Given the description of an element on the screen output the (x, y) to click on. 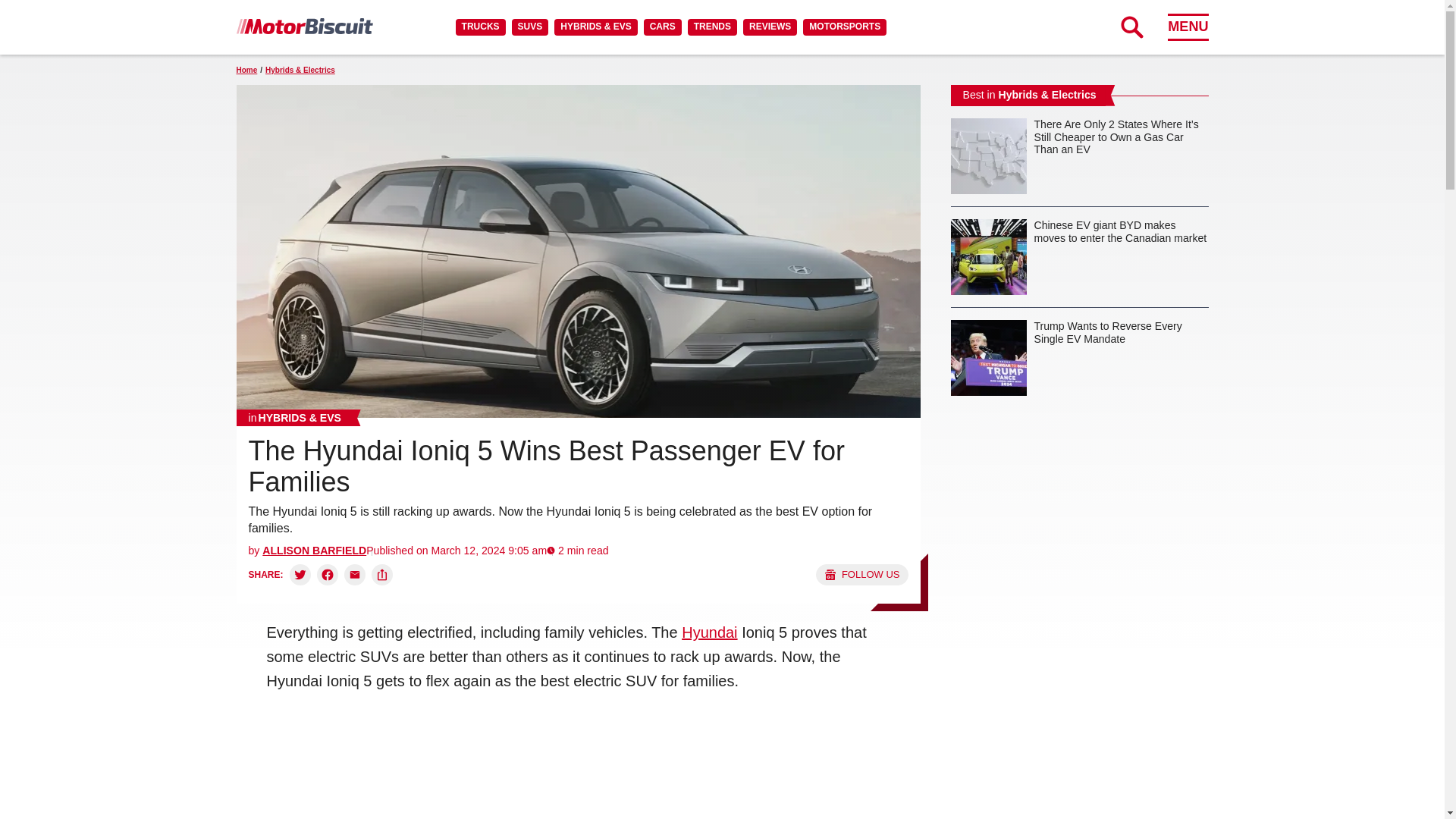
Expand Search (1131, 26)
SUVS (530, 26)
CARS (662, 26)
Copy link and share:  (382, 574)
TRENDS (711, 26)
MENU (1187, 26)
Follow us on Google News (861, 574)
MotorBiscuit (303, 26)
MOTORSPORTS (844, 26)
